Given the description of an element on the screen output the (x, y) to click on. 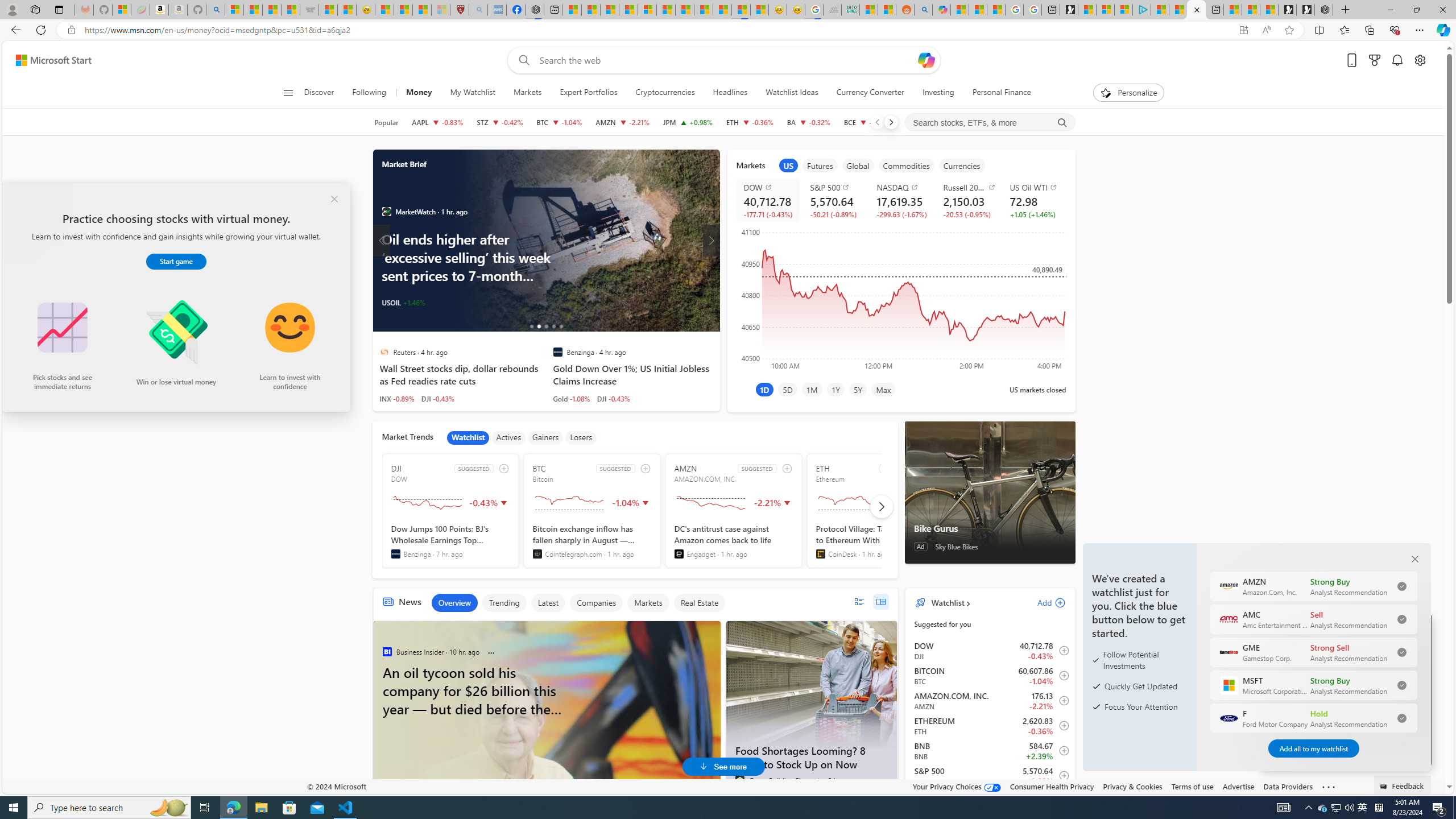
1M (811, 389)
AAPL APPLE INC. decrease 224.53 -1.87 -0.83% (437, 122)
US Oil WTI (1035, 187)
Reuters (384, 351)
App available. Install Start Money (1243, 29)
My Watchlist (472, 92)
5Y (857, 389)
Start game (175, 261)
